Given the description of an element on the screen output the (x, y) to click on. 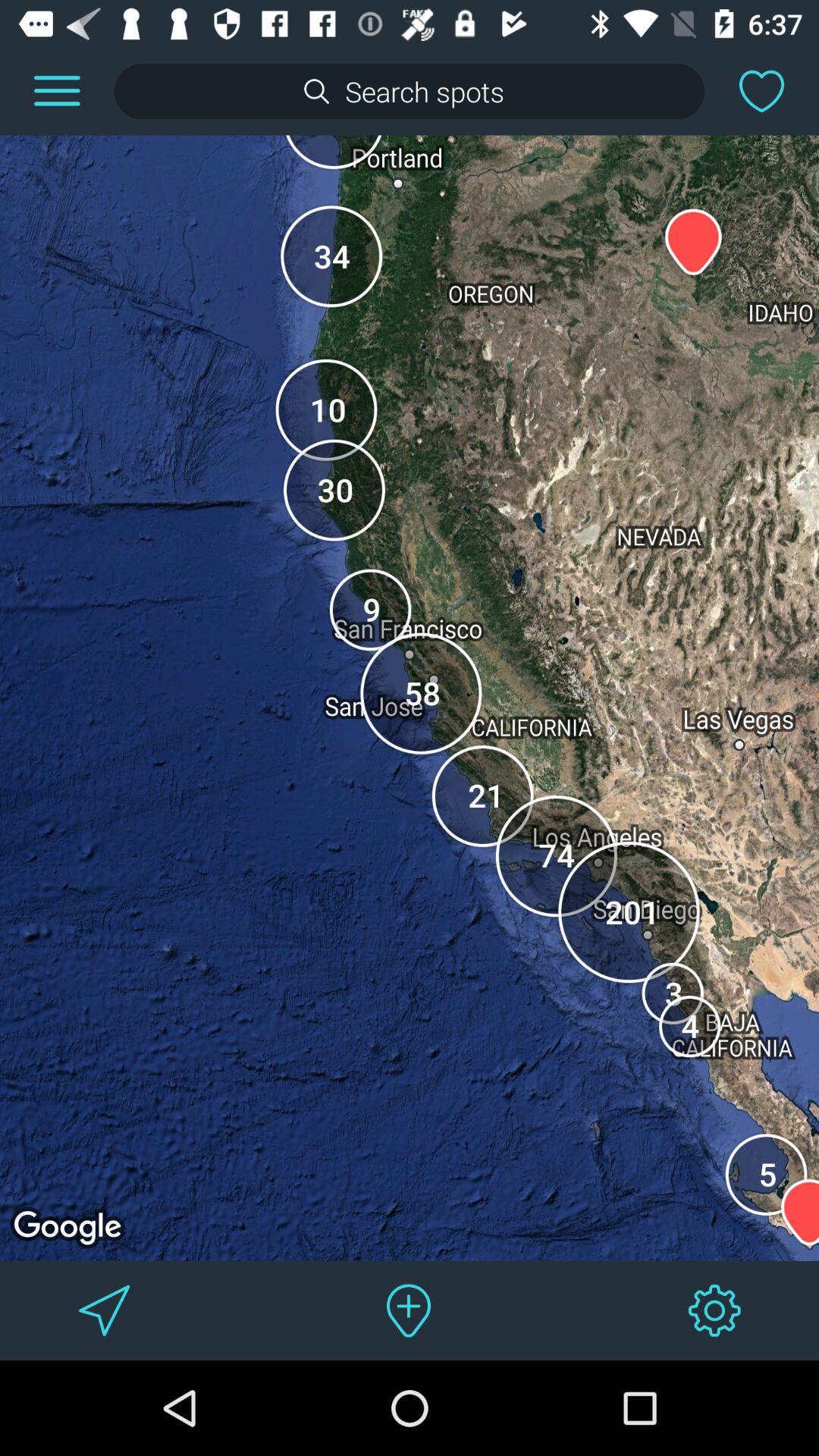
get directions (104, 1310)
